Given the description of an element on the screen output the (x, y) to click on. 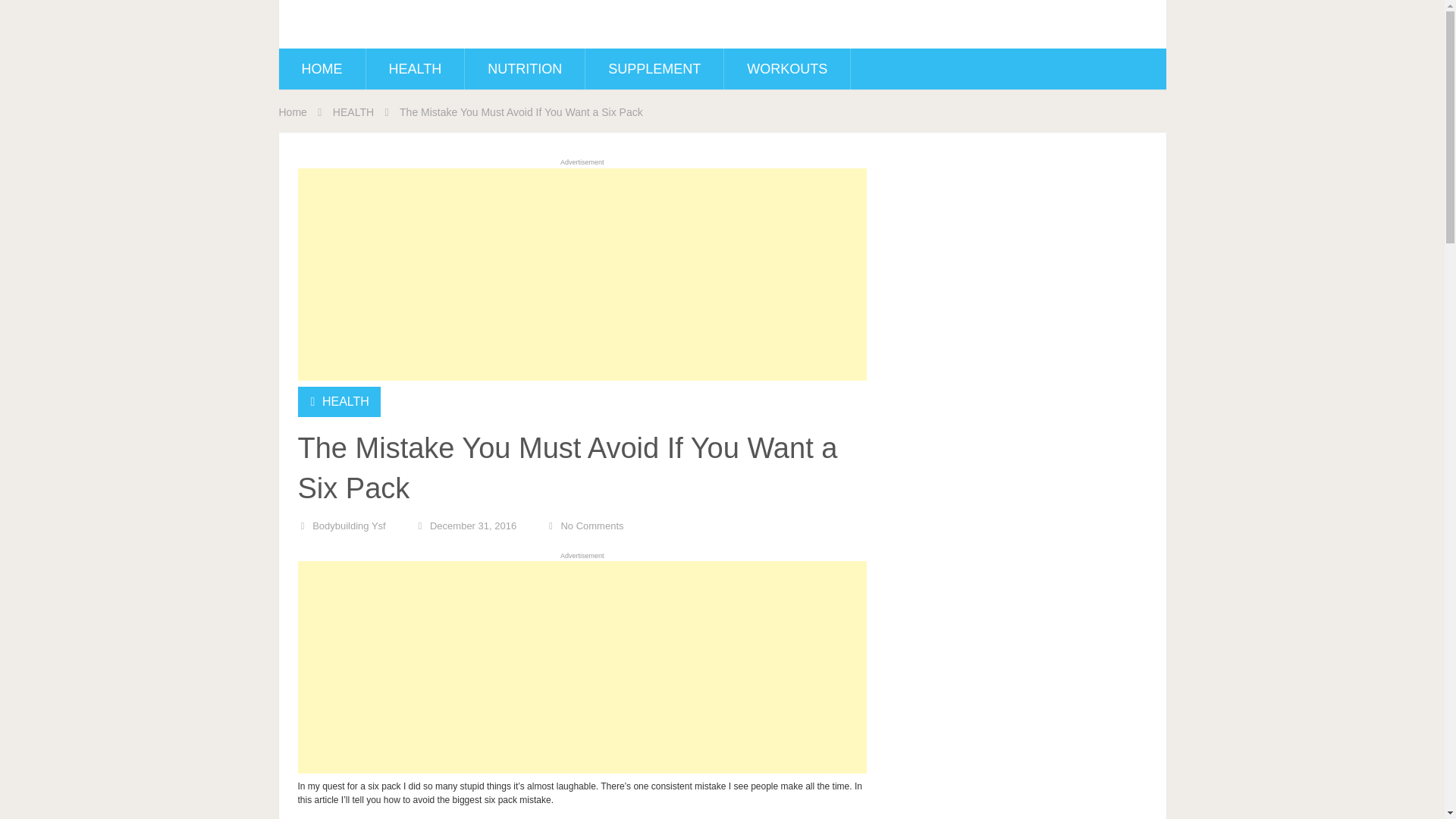
Posts by Bodybuilding Ysf (349, 525)
HEALTH (345, 400)
Advertisement (581, 667)
HEALTH (414, 68)
NUTRITION (524, 68)
HEALTH (353, 111)
No Comments (591, 525)
SUPPLEMENT (654, 68)
WORKOUTS (786, 68)
HOME (322, 68)
Home (293, 111)
Advertisement (581, 274)
Bodybuilding Ysf (349, 525)
